Given the description of an element on the screen output the (x, y) to click on. 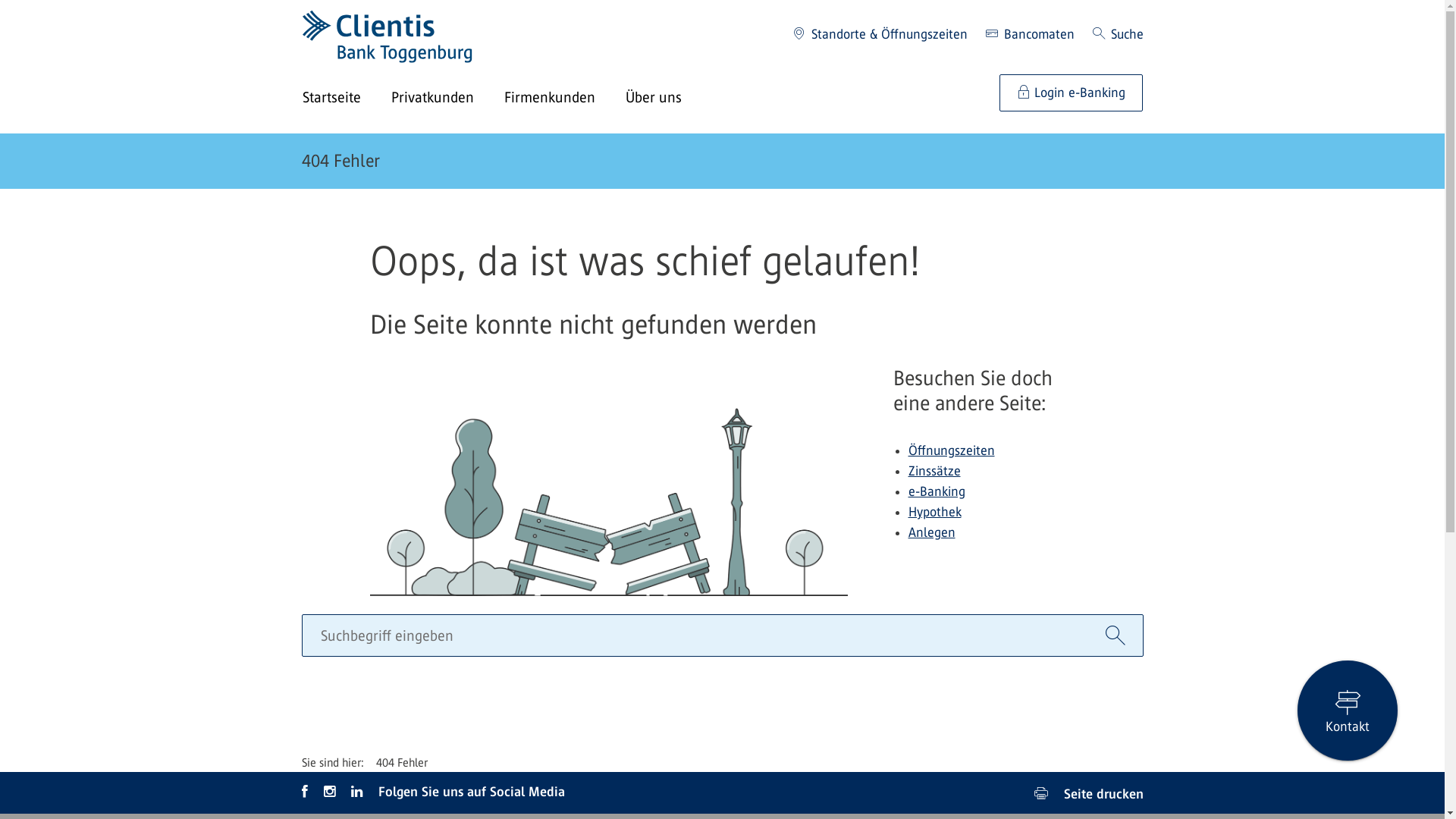
Startseite Element type: text (345, 98)
e-Banking Element type: text (936, 490)
Kontakt Element type: text (1347, 710)
Login e-Banking Element type: text (1070, 92)
404 Fehler Element type: text (340, 160)
Hypothek Element type: text (934, 511)
Bancomaten Element type: text (1029, 34)
Anlegen Element type: text (931, 531)
Seite drucken Element type: text (1088, 792)
Privatkunden Element type: text (447, 98)
Suche Element type: text (1117, 34)
Firmenkunden Element type: text (563, 98)
